Given the description of an element on the screen output the (x, y) to click on. 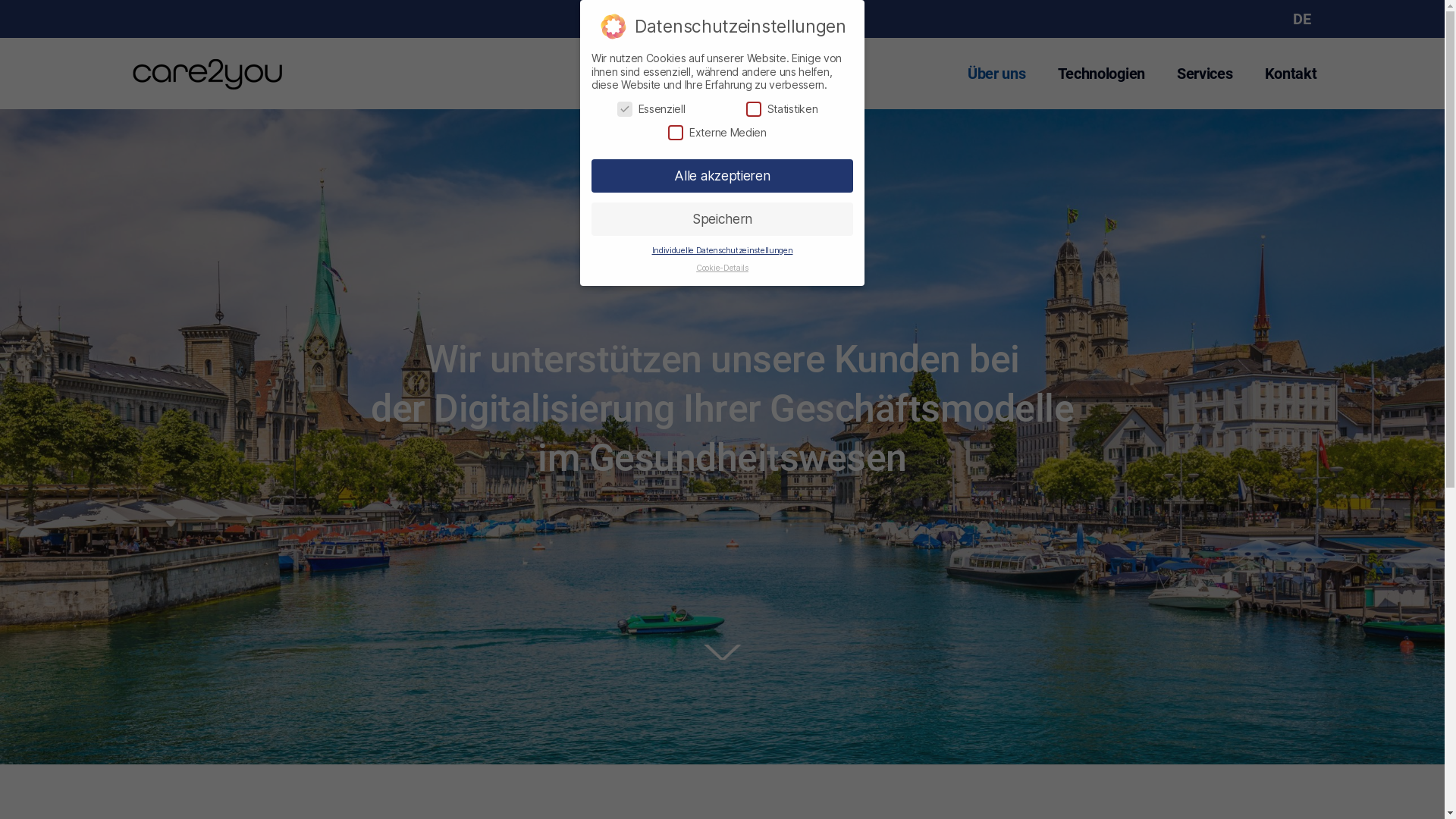
Services Element type: text (1204, 73)
Technologien Element type: text (1101, 73)
Asset 1 Element type: hover (722, 651)
Speichern Element type: text (722, 218)
Alle akzeptieren Element type: text (722, 175)
Kontakt Element type: text (1290, 73)
DE Element type: text (1301, 18)
Cookie-Details Element type: text (722, 268)
Individuelle Datenschutzeinstellungen Element type: text (722, 250)
